Given the description of an element on the screen output the (x, y) to click on. 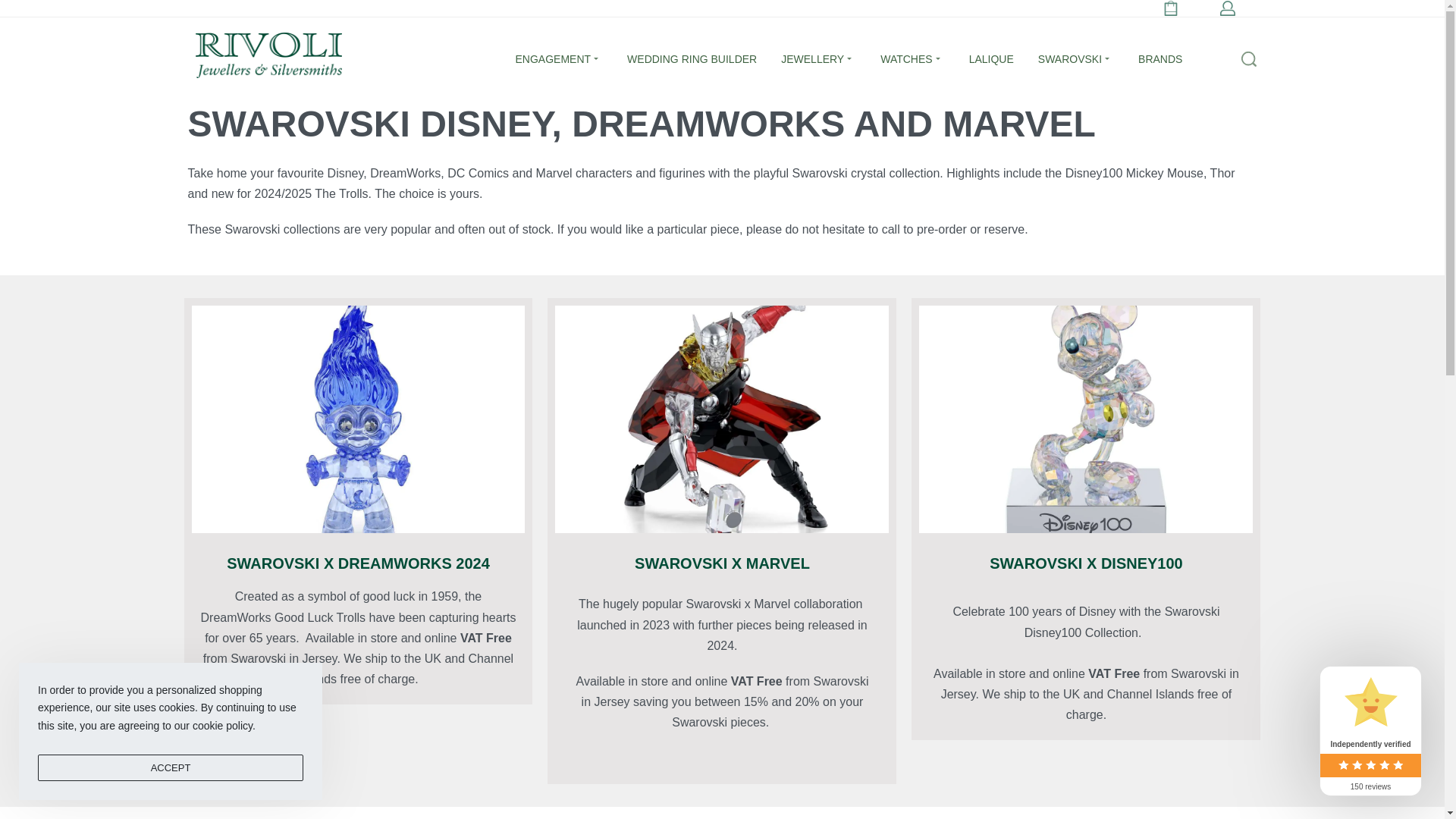
WEDDING RING BUILDER (692, 59)
ENGAGEMENT (559, 59)
SWAROVSKI (1075, 59)
LALIQUE (991, 59)
JEWELLERY (818, 59)
WATCHES (911, 59)
